Given the description of an element on the screen output the (x, y) to click on. 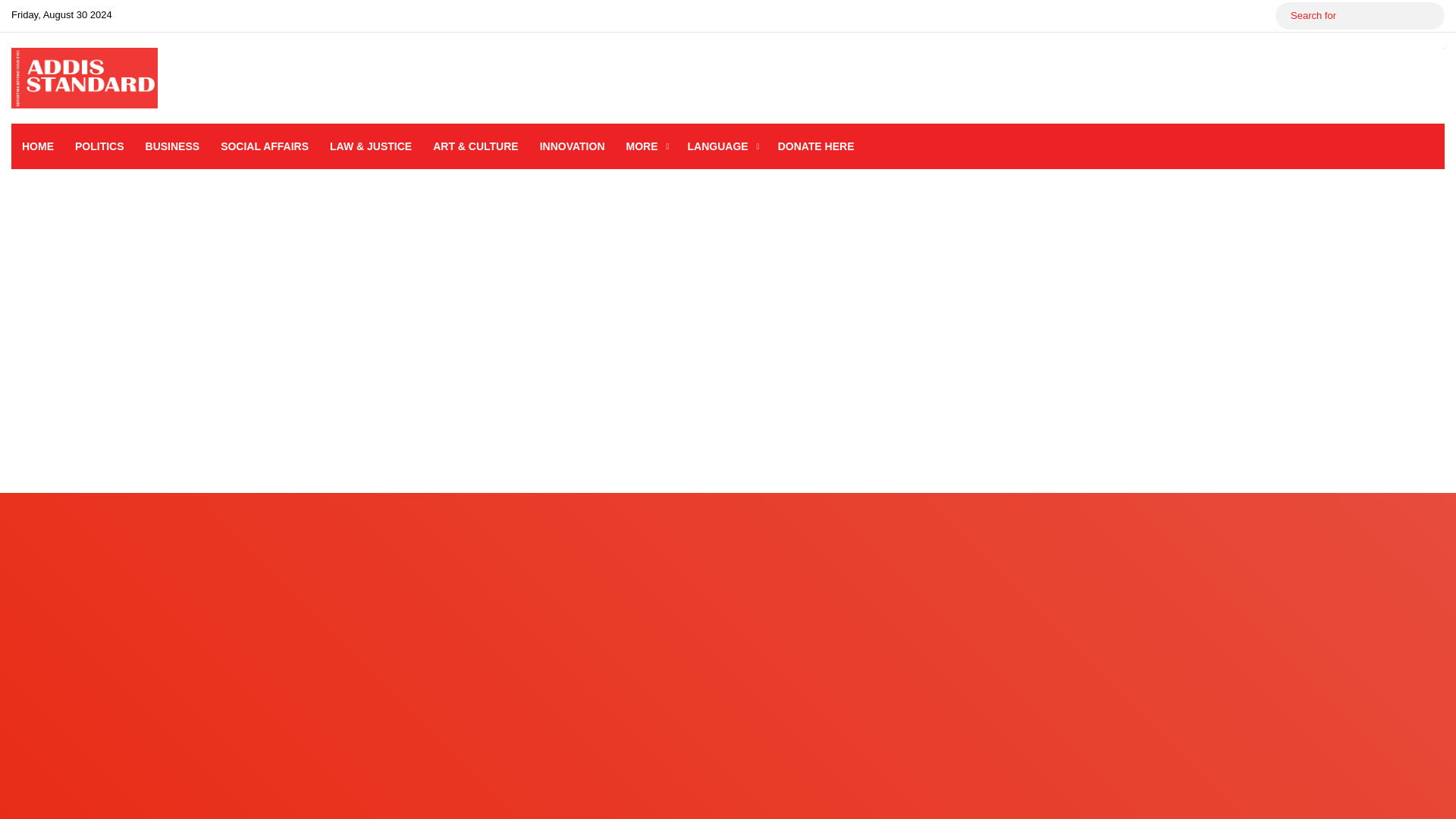
POLITICS (99, 145)
SOCIAL AFFAIRS (263, 145)
BUSINESS (173, 145)
Search for (1428, 15)
HOME (37, 145)
Addis Standard (84, 77)
Search for (1359, 15)
